Given the description of an element on the screen output the (x, y) to click on. 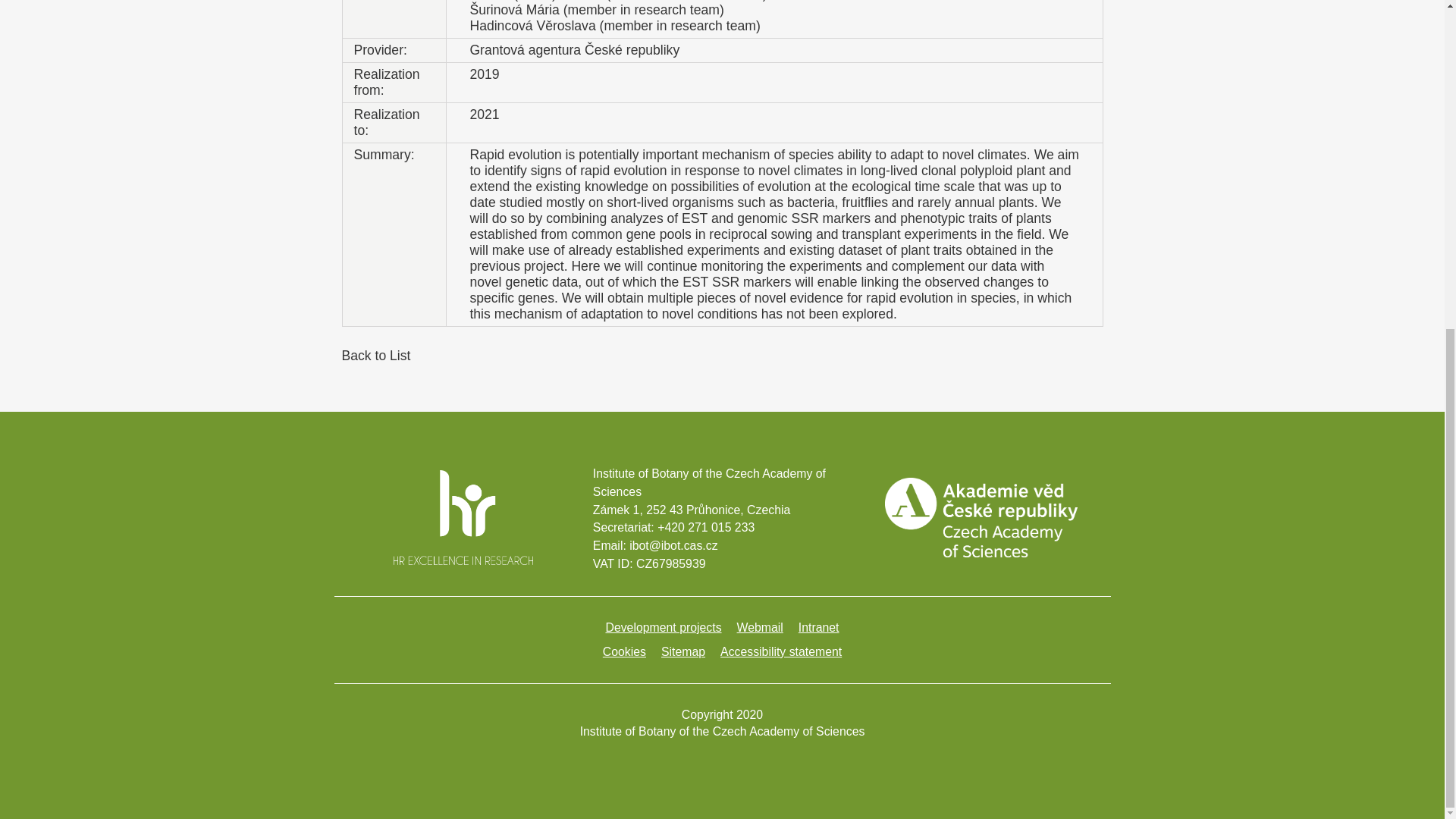
Visit web HR Excellence in Research Award - HRS4R (463, 560)
Visit web Czech Academy of Sciences (981, 553)
Visit Instagram (710, 762)
Visit YouTube (732, 762)
Visit Facebook (688, 762)
